Given the description of an element on the screen output the (x, y) to click on. 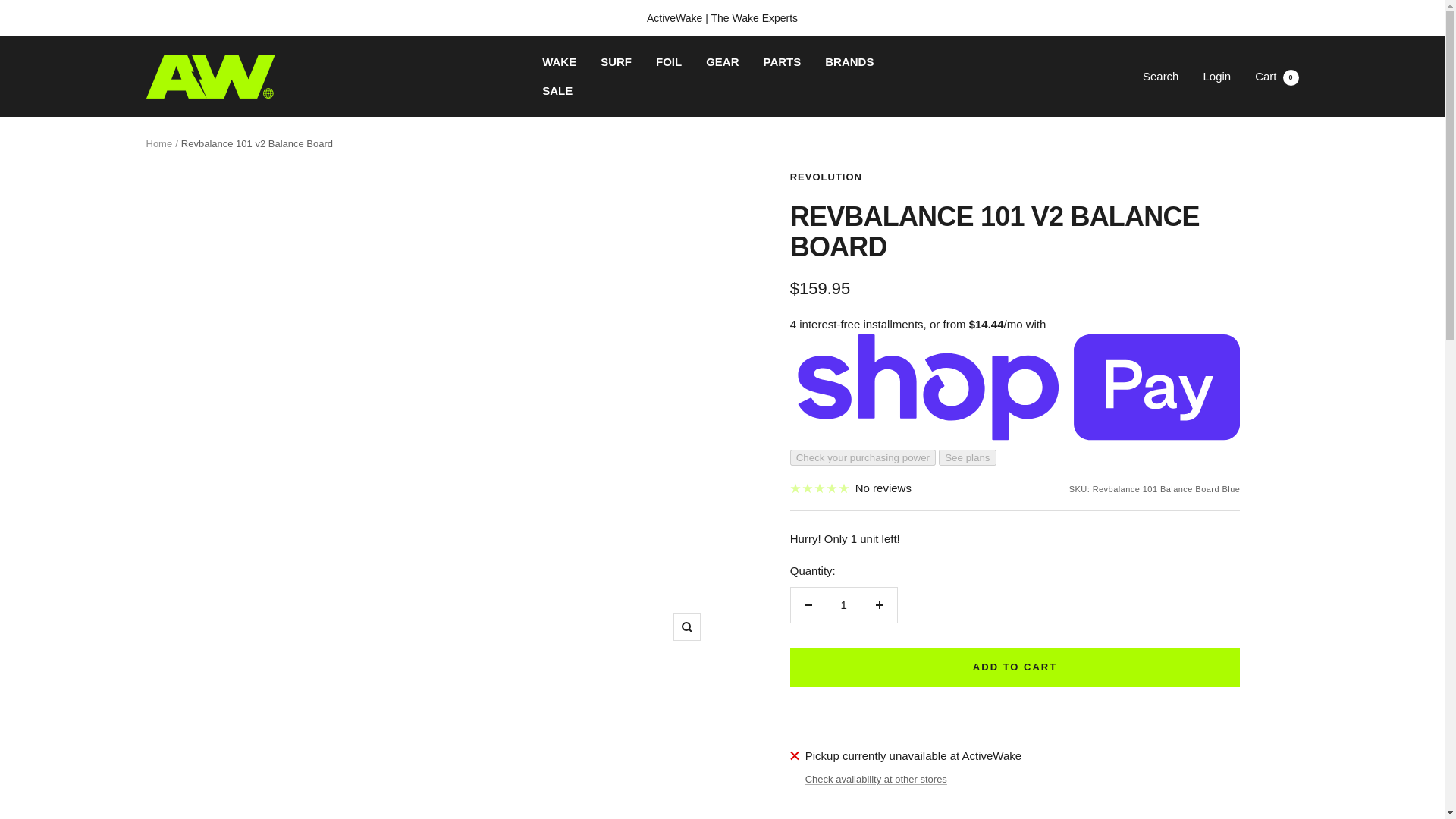
PARTS (782, 62)
Login (1216, 75)
ActiveWake (210, 76)
SURF (615, 62)
GEAR (722, 62)
WAKE (1276, 75)
1 (558, 62)
BRANDS (843, 605)
Search (849, 62)
